Given the description of an element on the screen output the (x, y) to click on. 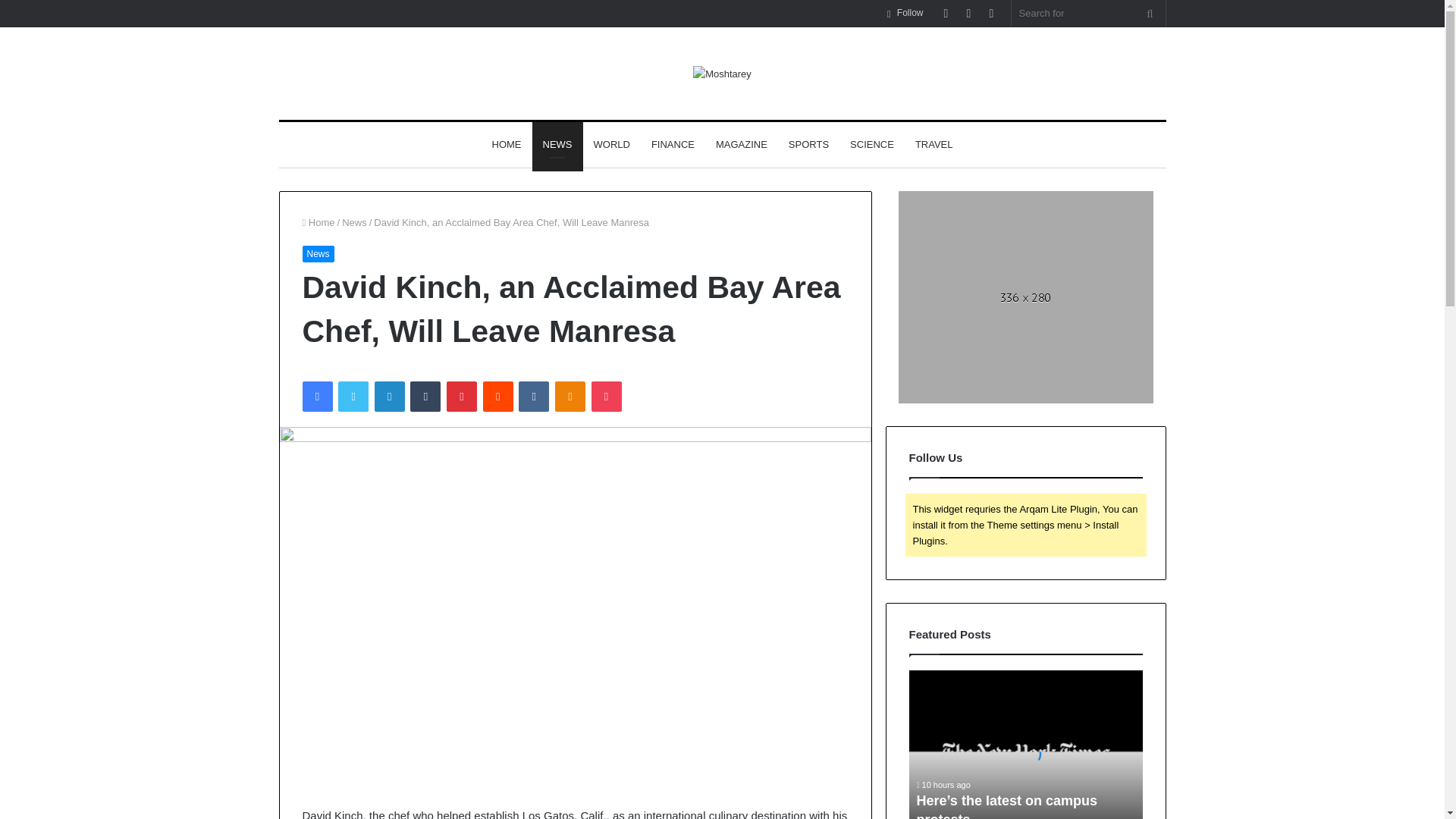
SPORTS (808, 144)
Moshtarey (722, 73)
Reddit (498, 396)
FINANCE (672, 144)
Odnoklassniki (569, 396)
WORLD (611, 144)
Pocket (606, 396)
SCIENCE (872, 144)
Sidebar (991, 13)
VKontakte (533, 396)
Twitter (352, 396)
MAGAZINE (740, 144)
Tumblr (425, 396)
Random Article (967, 13)
Search for (1088, 13)
